Given the description of an element on the screen output the (x, y) to click on. 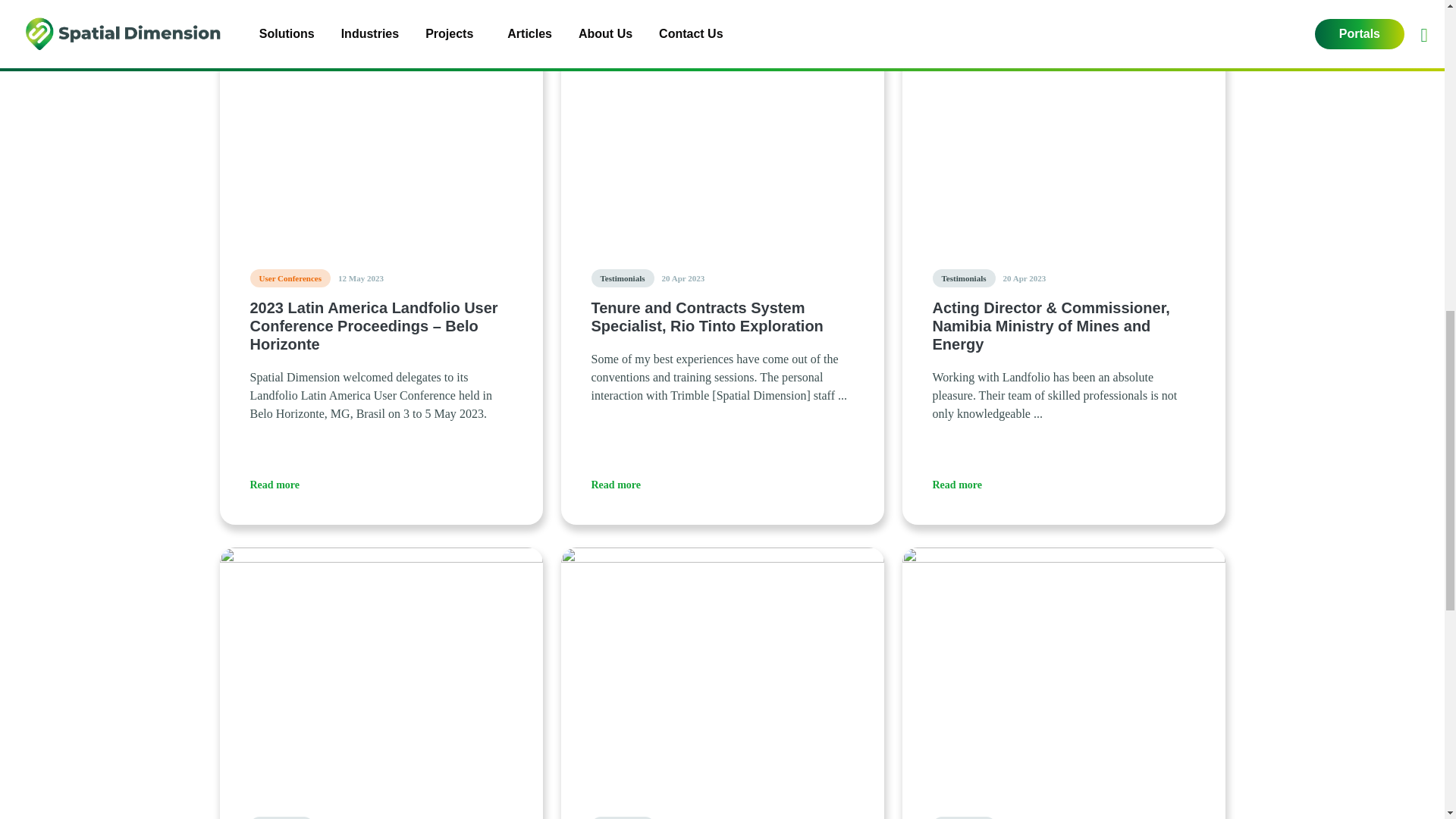
Testimonials (622, 278)
User Conferences (290, 278)
Testimonials (964, 817)
Testimonials (622, 817)
Testimonials (964, 278)
Testimonials (281, 817)
